Given the description of an element on the screen output the (x, y) to click on. 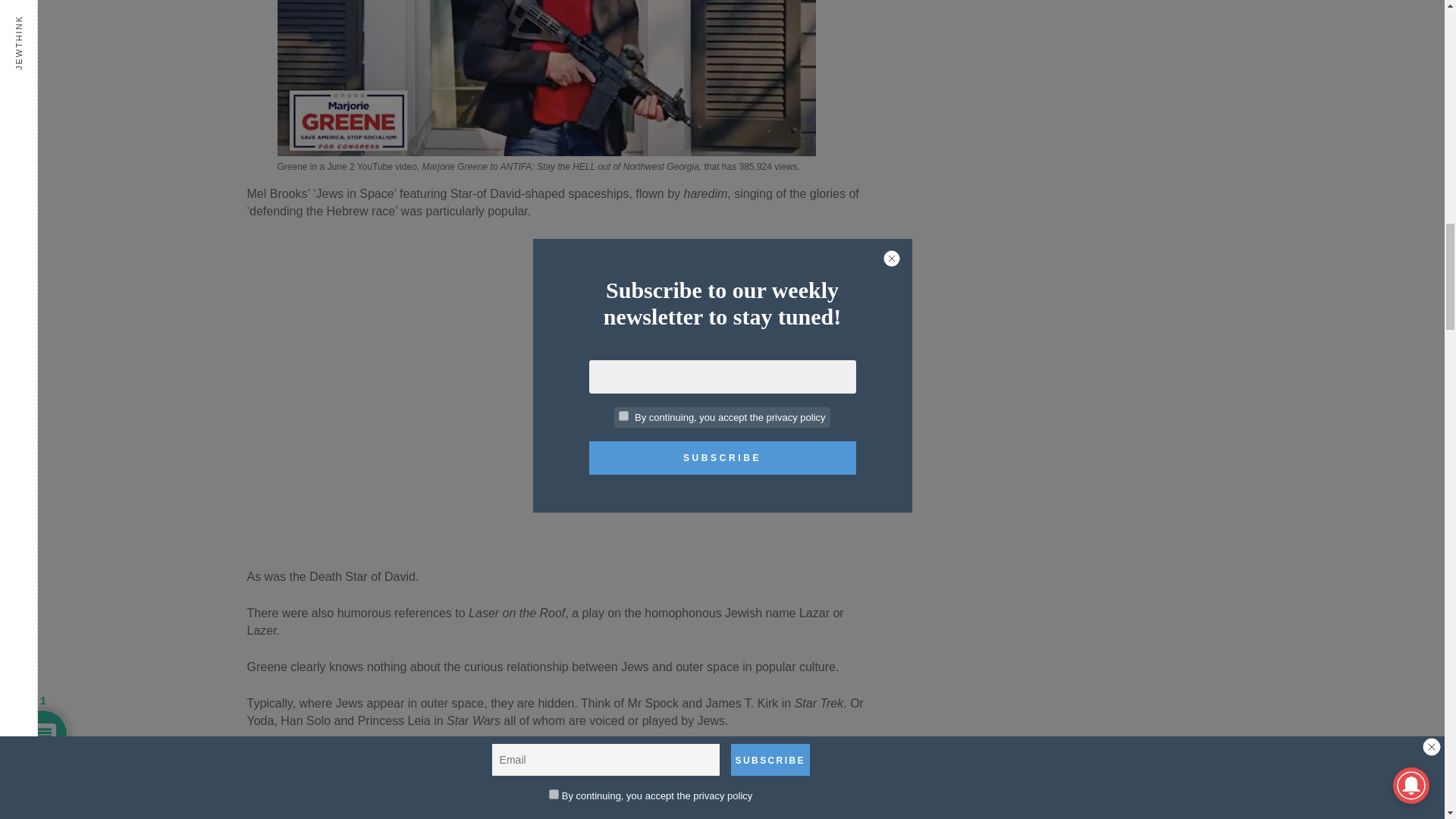
YouTube player (559, 783)
